Given the description of an element on the screen output the (x, y) to click on. 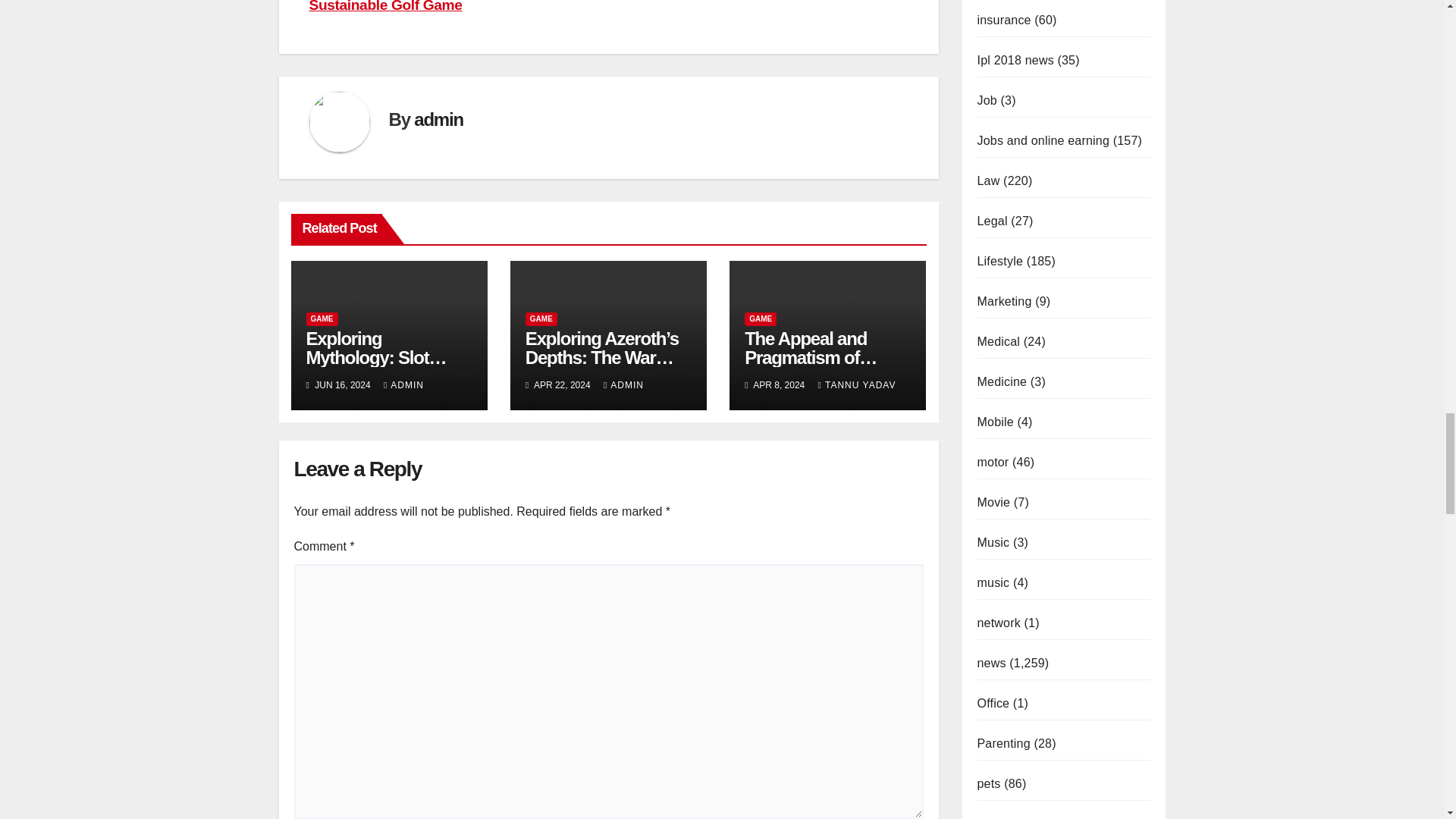
GAME (541, 318)
GAME (321, 318)
ADMIN (403, 385)
admin (438, 118)
4 Steps You Can Take To Achieve a More Sustainable Golf Game (448, 6)
Exploring Mythology: Slot Games Inspired by Ancient Legends (378, 366)
